Given the description of an element on the screen output the (x, y) to click on. 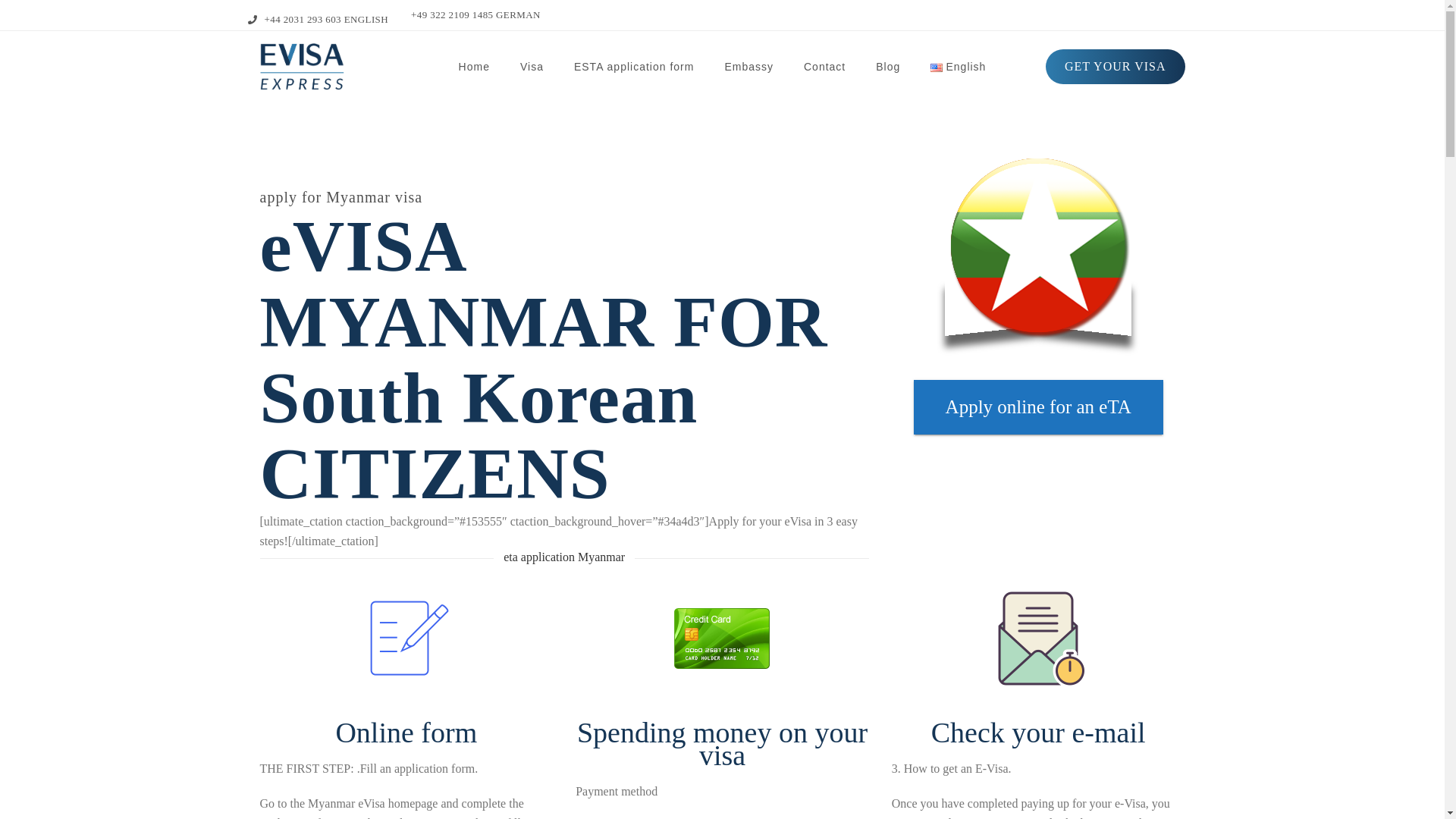
Contact (824, 66)
ESTA application form (634, 66)
Embassy (749, 66)
